Given the description of an element on the screen output the (x, y) to click on. 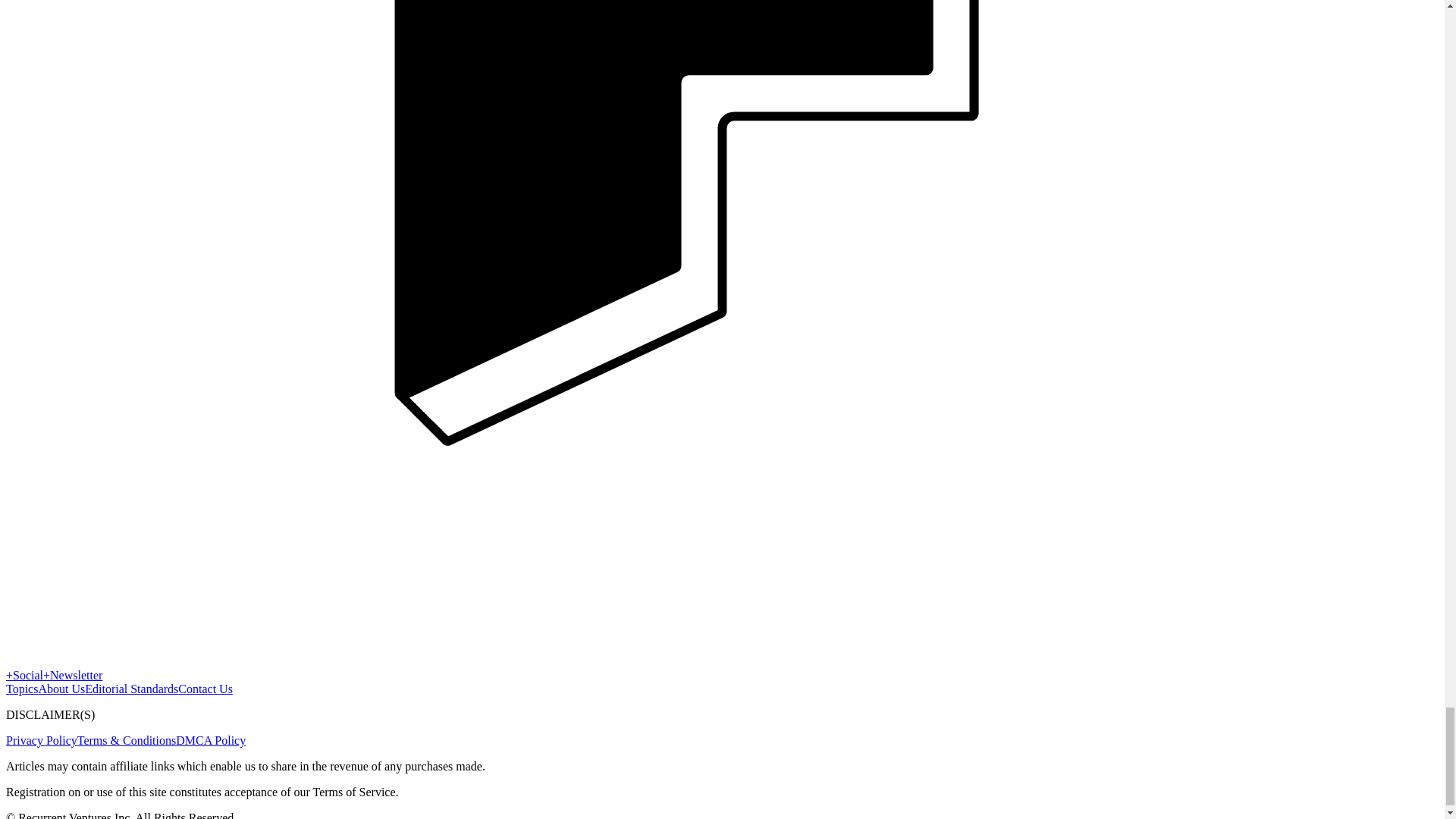
Topics (21, 688)
Contact Us (204, 688)
Editorial Standards (130, 688)
About Us (60, 688)
Privacy Policy (41, 739)
DMCA Policy (211, 739)
